Given the description of an element on the screen output the (x, y) to click on. 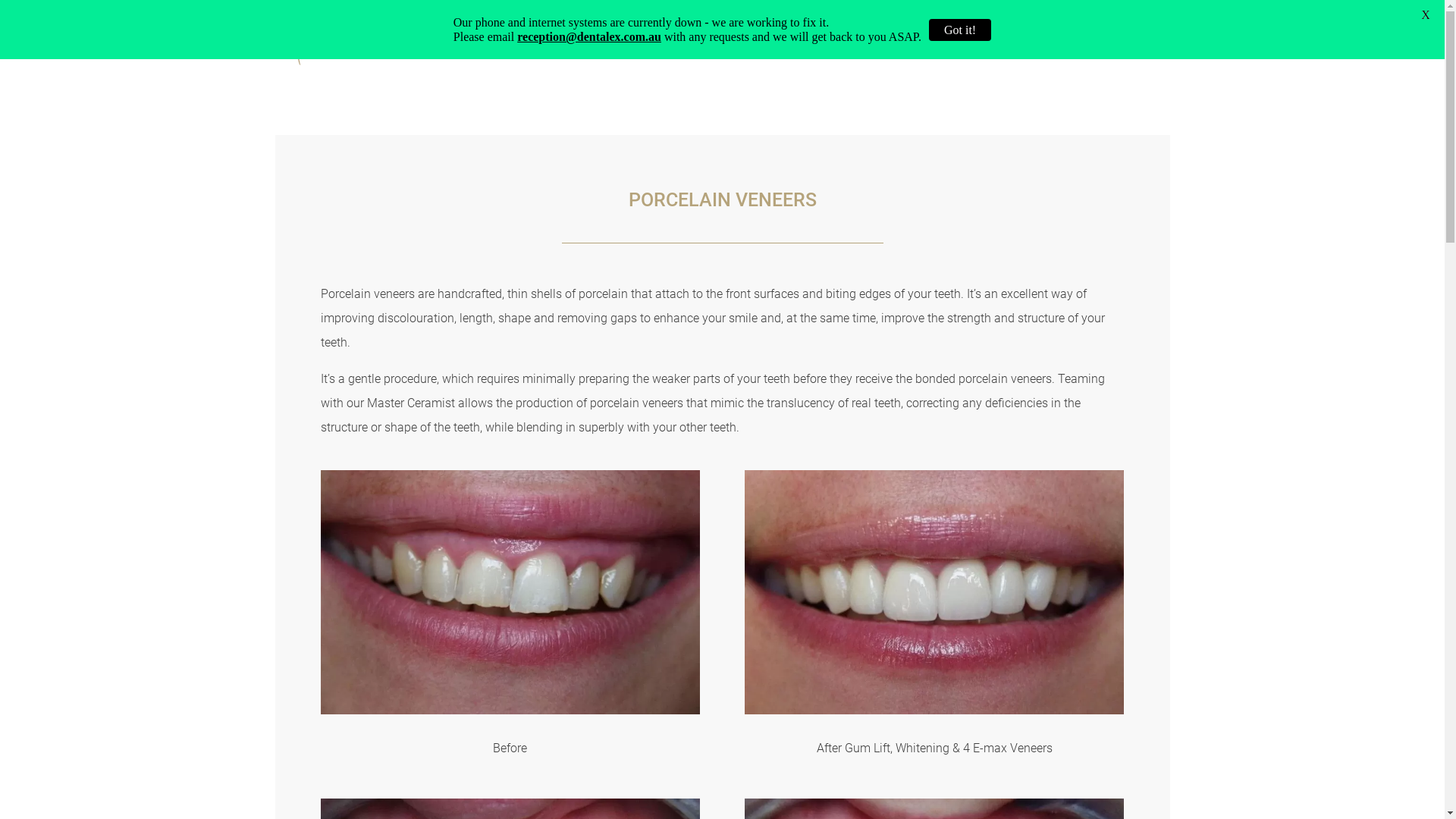
Videos Element type: text (977, 42)
Blog Element type: text (928, 42)
Got it! Element type: text (959, 29)
Teeth Images Element type: hover (509, 709)
Teeth Images Element type: hover (509, 592)
Teeth Images Element type: hover (934, 592)
Dental Logo Element type: hover (354, 39)
Book Now Element type: text (1122, 41)
Services Element type: text (816, 42)
Contact Element type: text (1036, 42)
Teeth Images Element type: hover (934, 709)
Gallery Element type: text (876, 42)
About Element type: text (758, 42)
